Given the description of an element on the screen output the (x, y) to click on. 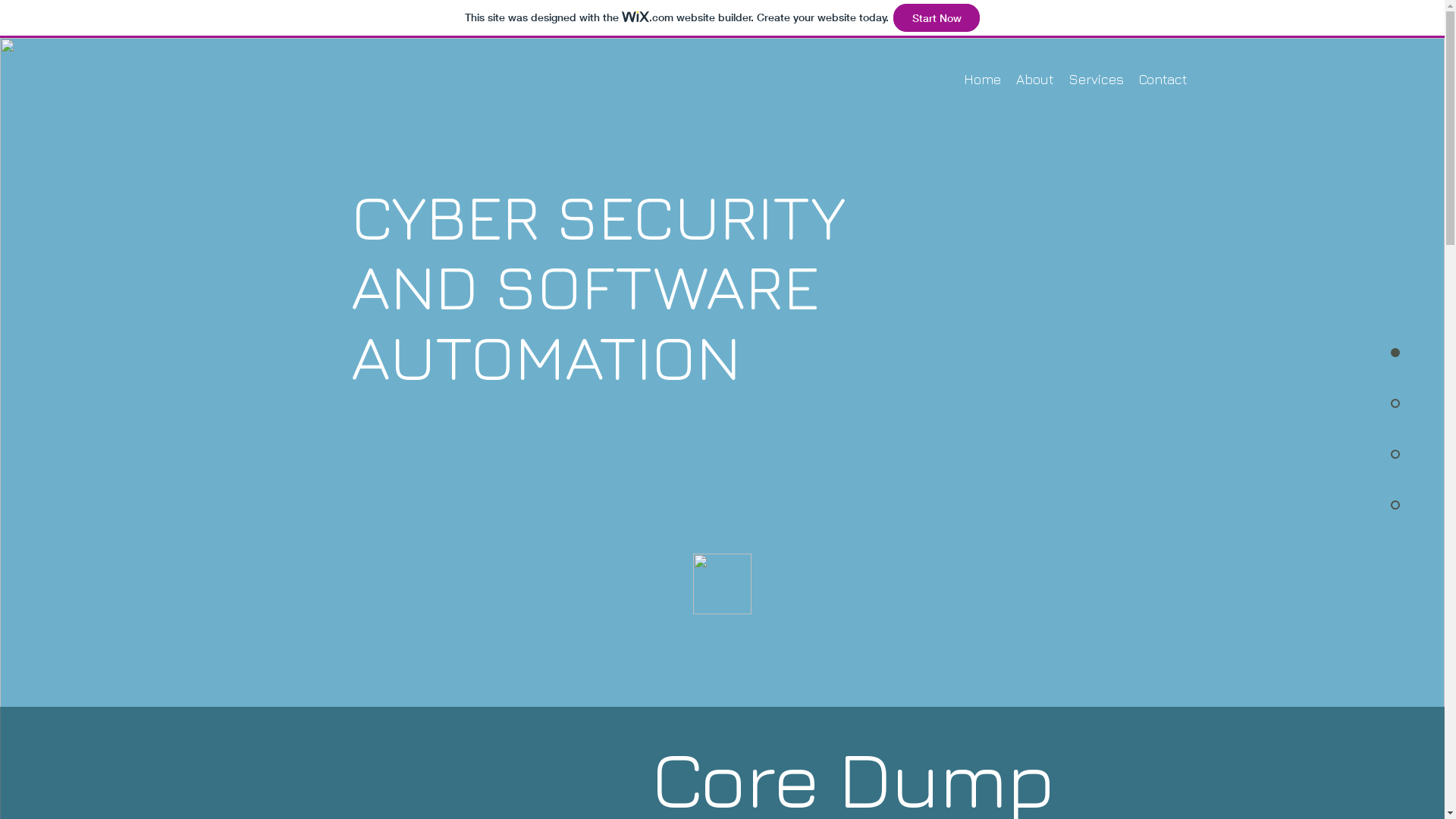
Services Element type: text (1096, 79)
About Element type: text (1034, 79)
Contact Element type: text (1163, 79)
Home Element type: text (981, 79)
